Given the description of an element on the screen output the (x, y) to click on. 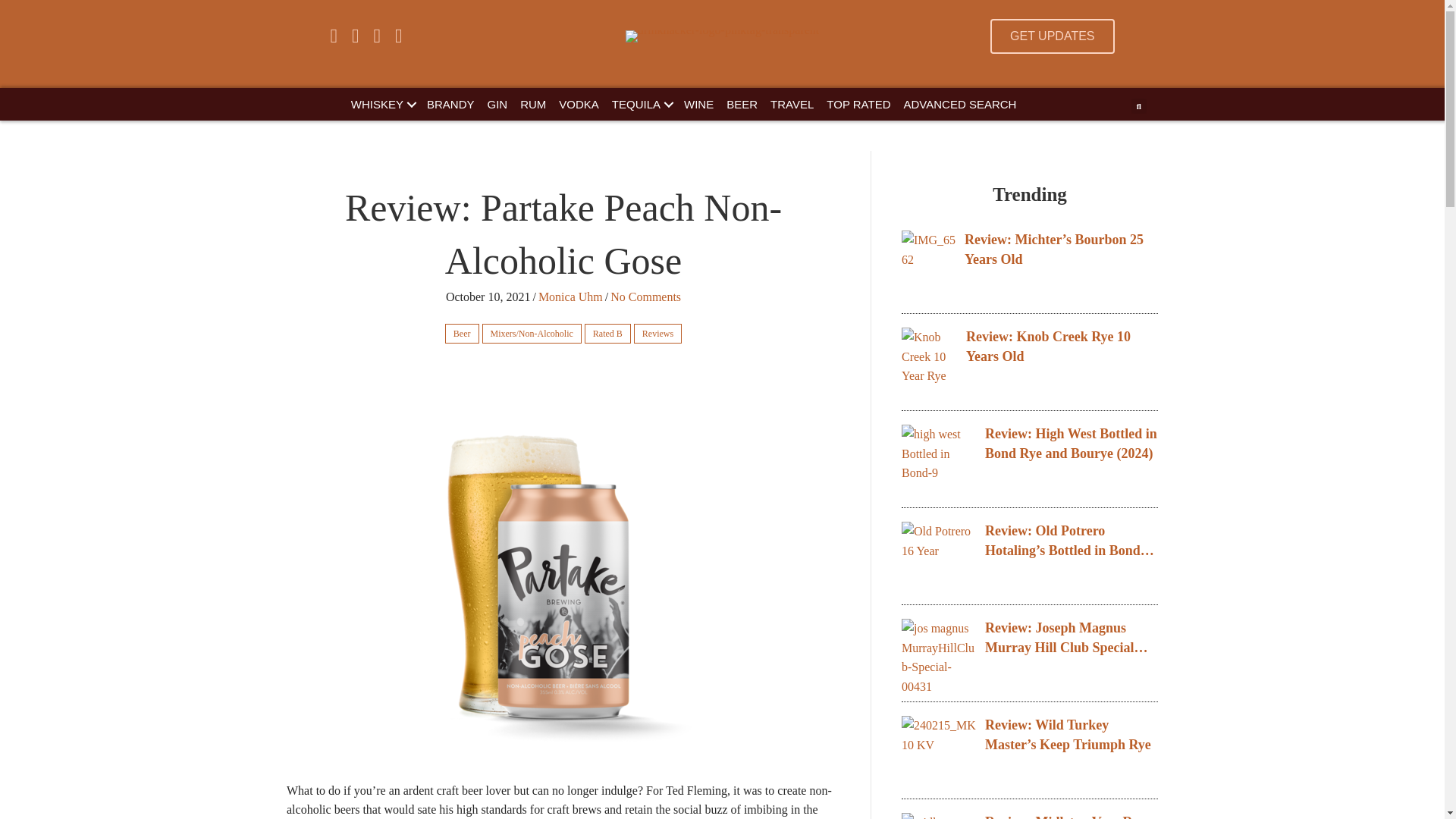
TEQUILA (641, 103)
TOP RATED (858, 103)
GIN (496, 103)
GET UPDATES (1051, 36)
ADVANCED SEARCH (960, 103)
WHISKEY (382, 103)
TRAVEL (791, 103)
BRANDY (450, 103)
Submit (739, 308)
VODKA (579, 103)
RUM (532, 103)
Click Here (1051, 36)
BEER (741, 103)
drinkhacker-logo-pinktag-transparent (722, 36)
WINE (698, 103)
